Given the description of an element on the screen output the (x, y) to click on. 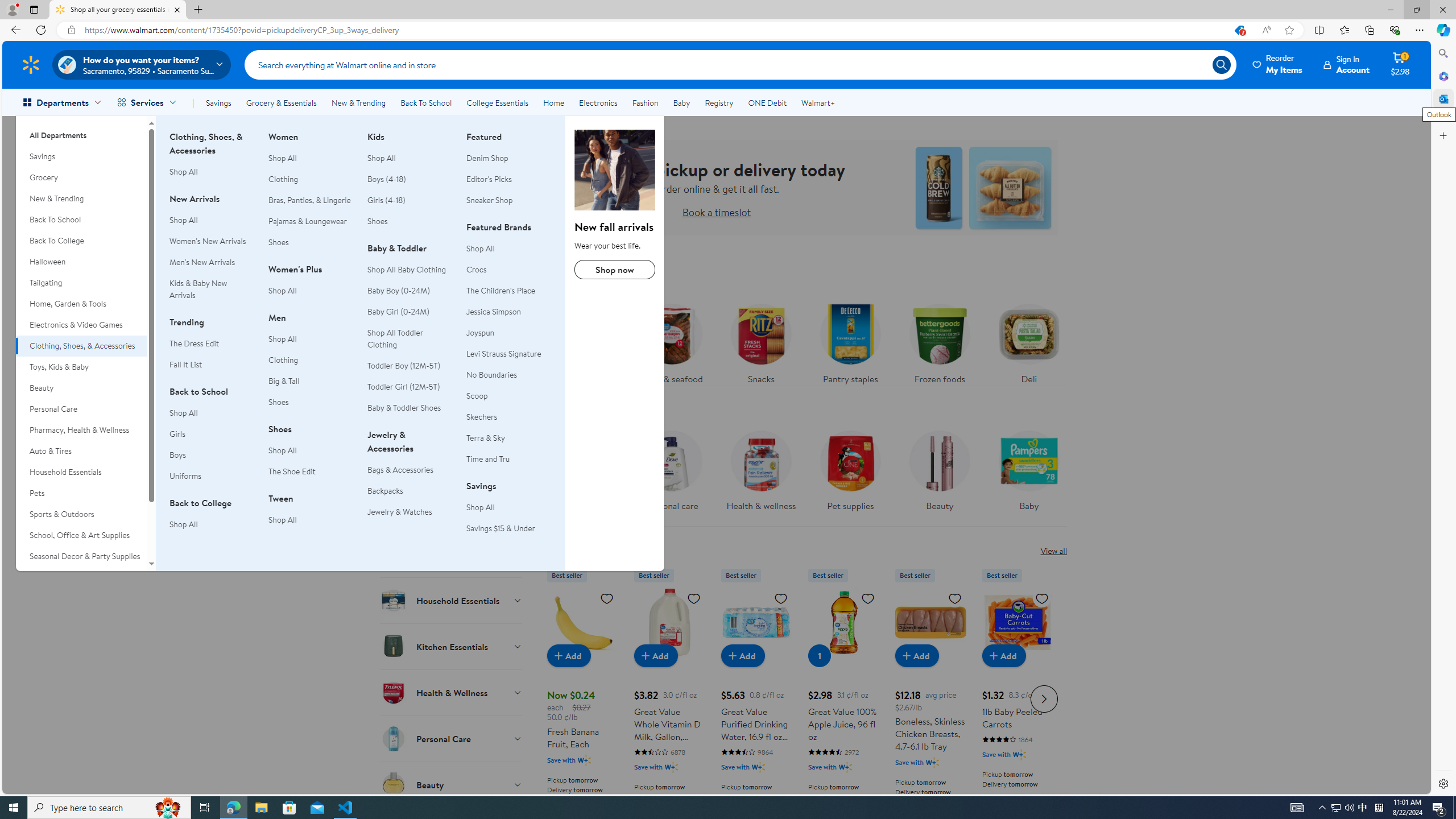
Shoes (409, 221)
Crocs (475, 269)
Kids & Baby New Arrivals (211, 289)
New & Trending (358, 102)
Shop All Toddler Clothing (394, 338)
Fresh Food (451, 323)
Back To College (81, 240)
Sign in to add to Favorites list, Fresh Banana Fruit, Each (606, 597)
Frozen (451, 415)
Search icon (1220, 64)
Pajamas & Loungewear (310, 221)
Girls (4-18) (386, 199)
